Given the description of an element on the screen output the (x, y) to click on. 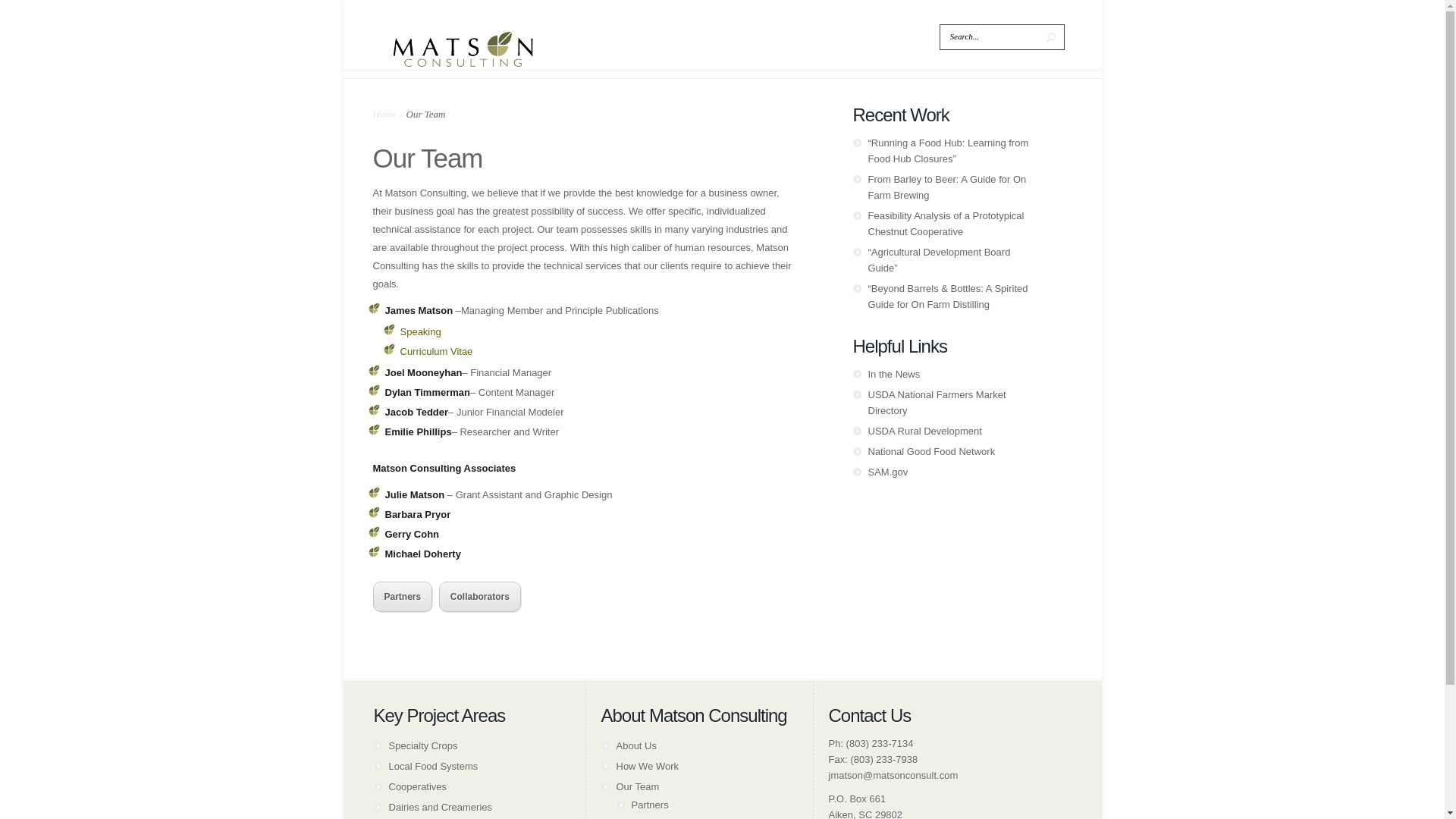
Emilie Phillips (418, 431)
Search... (988, 36)
USDA National Farmers Market Directory (936, 402)
Curriculum Vitae (436, 351)
Joel Mooneyhan (424, 372)
Gerry Cohn (412, 533)
Dylan Timmerman (427, 392)
Speaking (420, 331)
Collaborators (480, 596)
Home (384, 113)
Julie Matson (415, 494)
From Barley to Beer: A Guide for On Farm Brewing (946, 186)
Feasibility Analysis of a Prototypical Chestnut Cooperative (945, 223)
James Matson (418, 310)
Michael Doherty (423, 553)
